Given the description of an element on the screen output the (x, y) to click on. 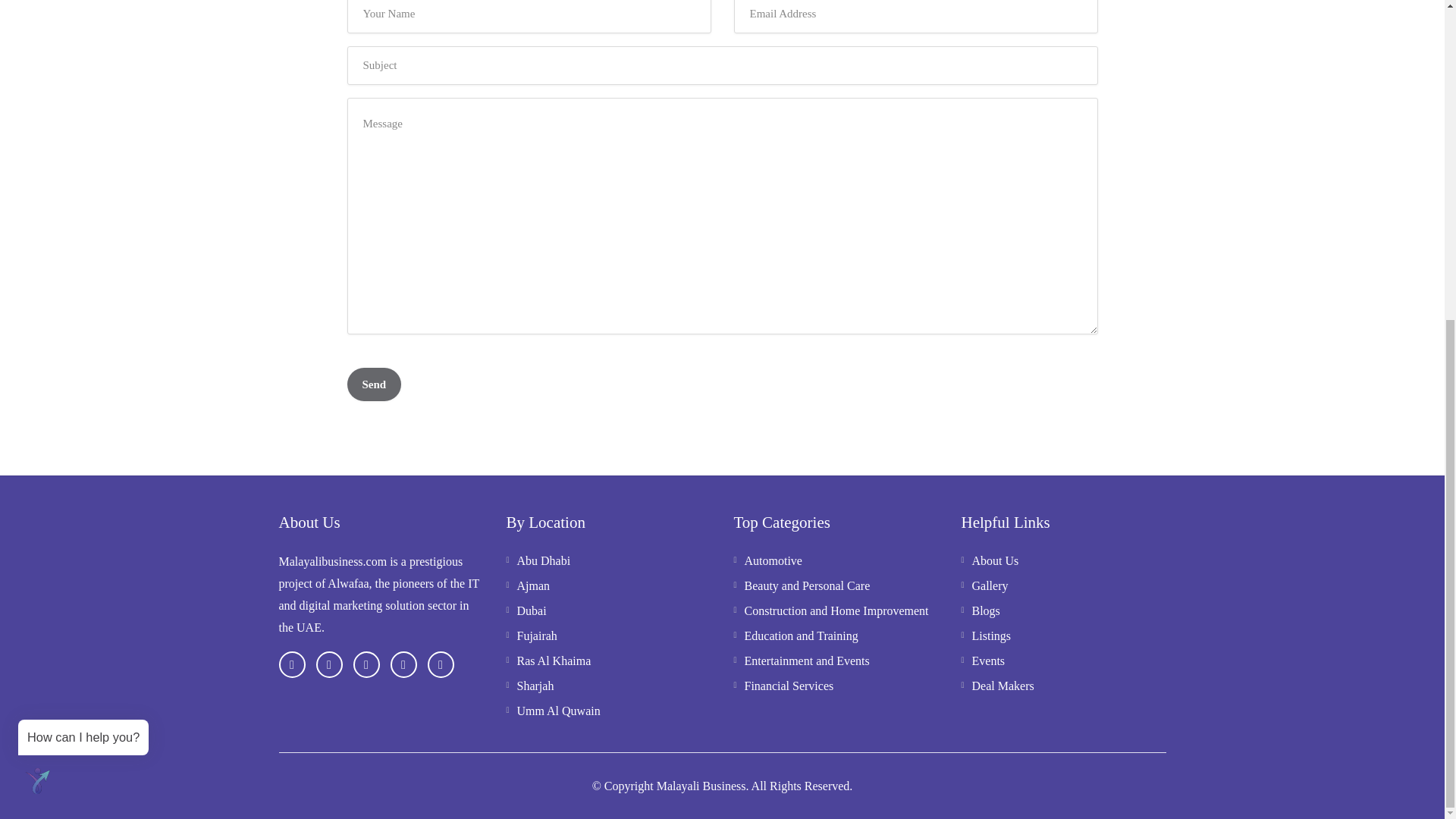
Send (374, 384)
Ajman (528, 589)
Fujairah (531, 639)
Dubai (526, 613)
Send (374, 384)
Umm Al Quwain (552, 713)
Abu Dhabi (538, 563)
Sharjah (530, 689)
Ras Al Khaima (548, 663)
